Given the description of an element on the screen output the (x, y) to click on. 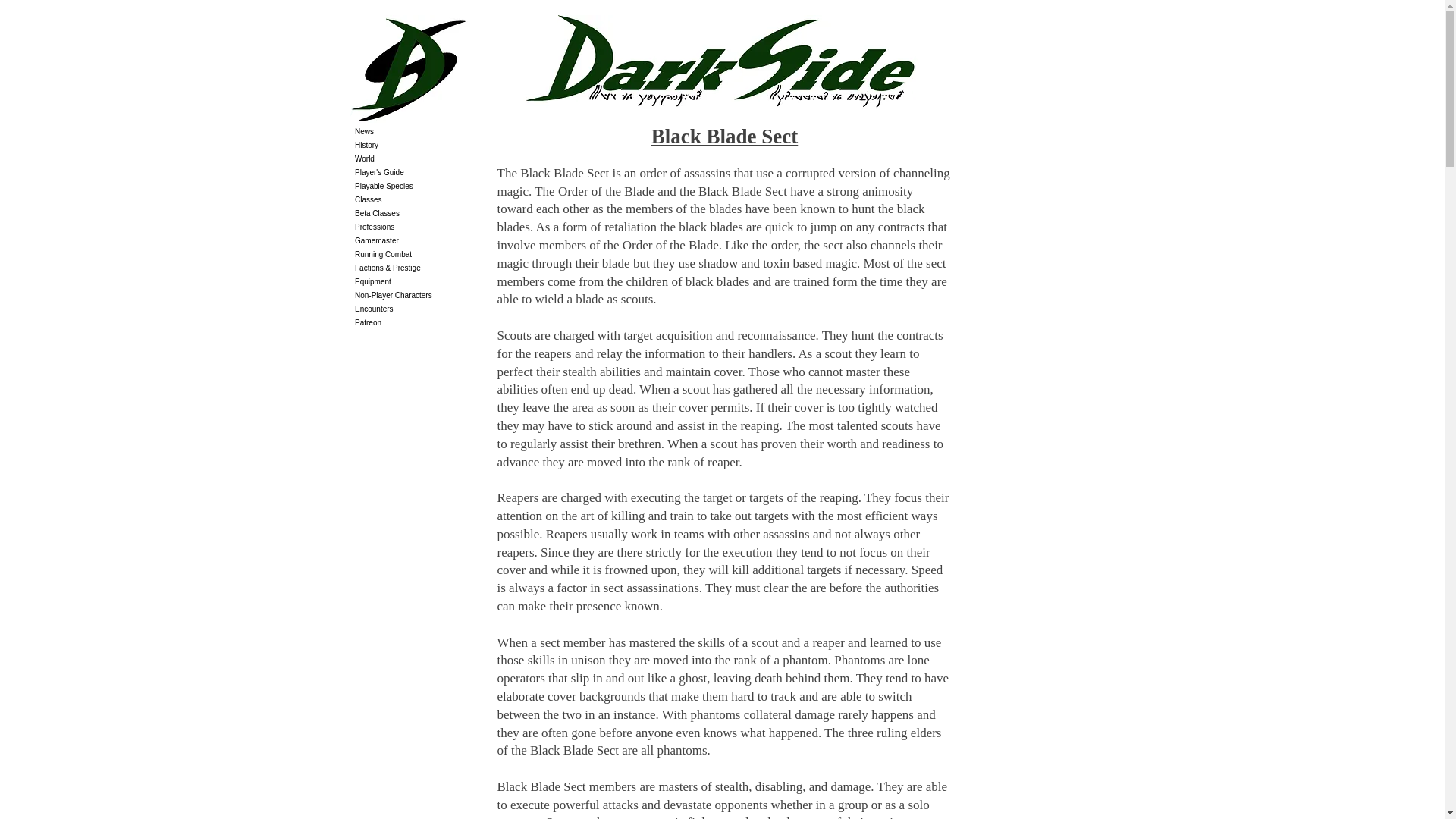
Playable Species (419, 186)
History (419, 145)
Player's Guide (419, 172)
World (419, 159)
News (419, 131)
Classes (419, 200)
